Given the description of an element on the screen output the (x, y) to click on. 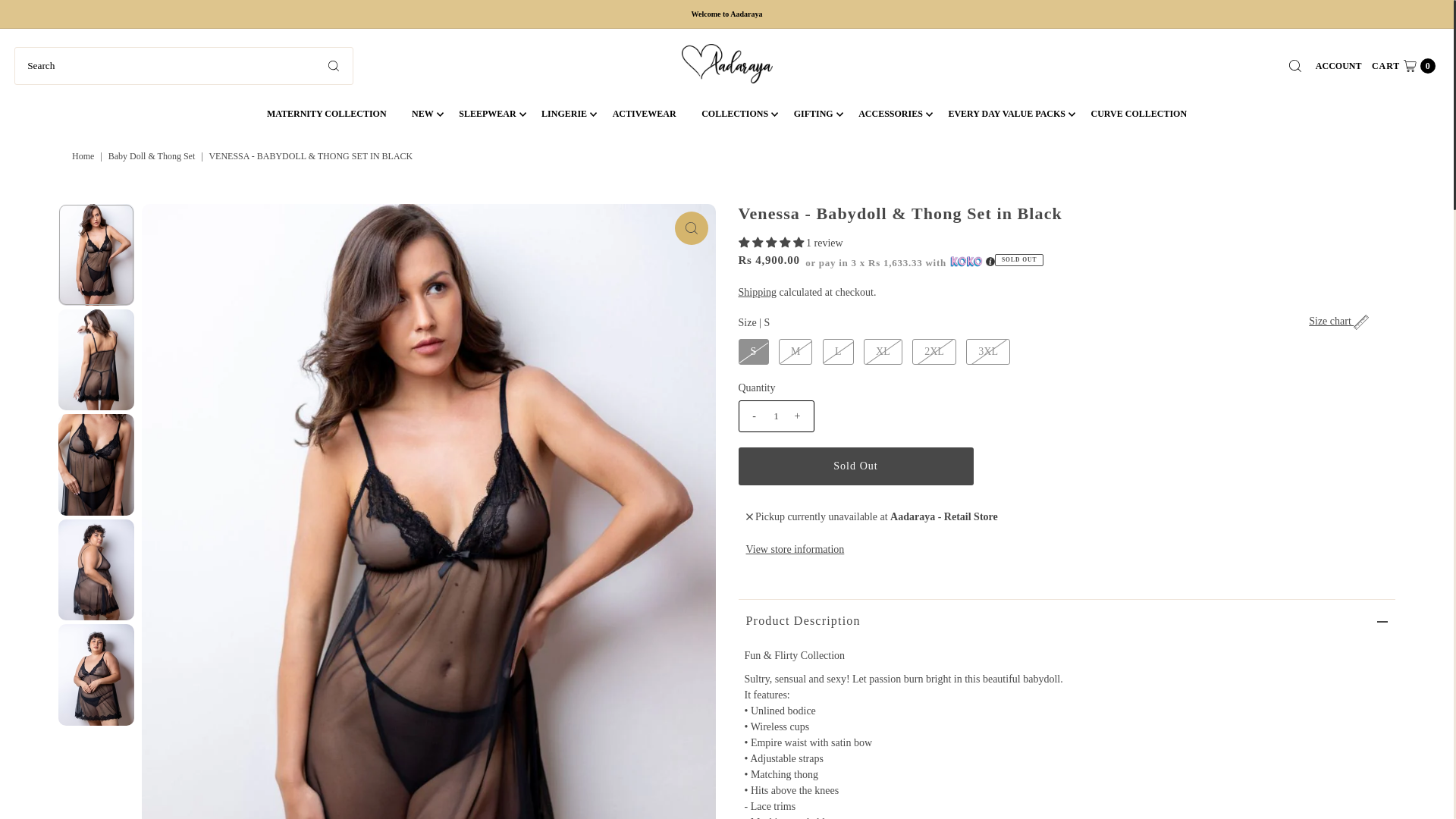
Sold Out (856, 466)
ACCOUNT (1338, 65)
Home (84, 155)
NEW (422, 113)
MATERNITY COLLECTION (326, 113)
Click to zoom (691, 227)
